Given the description of an element on the screen output the (x, y) to click on. 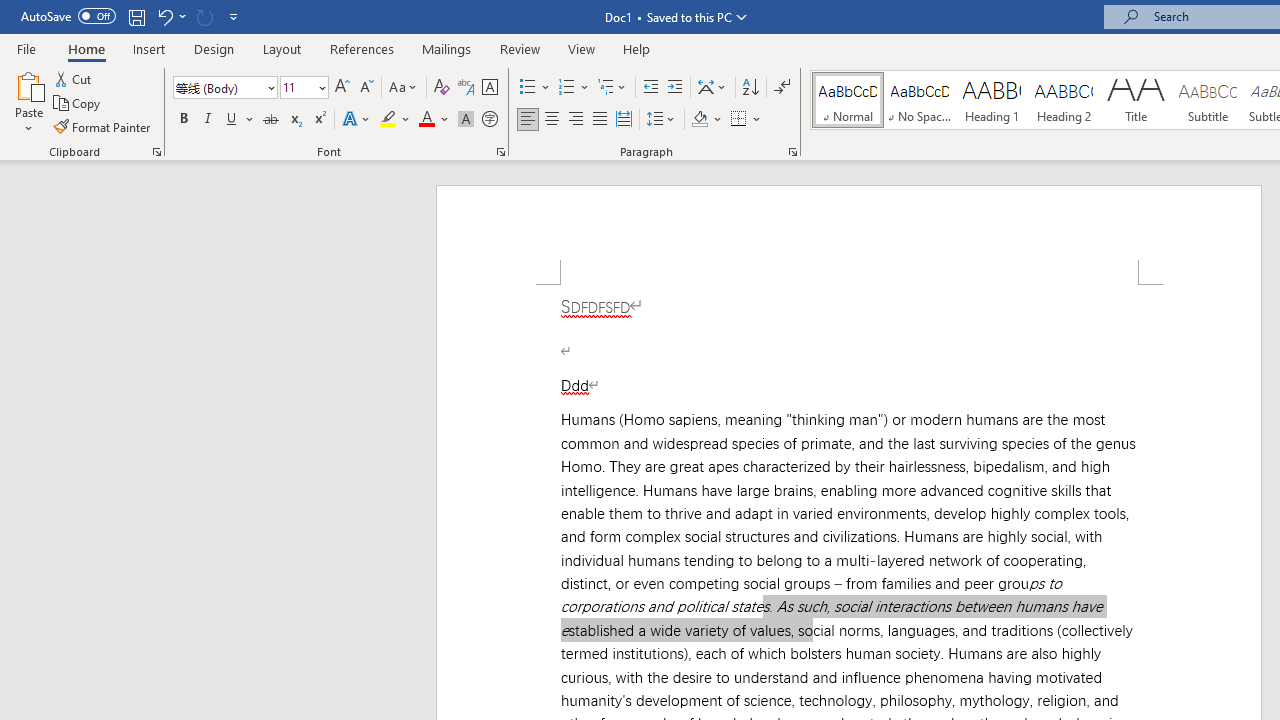
Change Case (404, 87)
Align Left (527, 119)
Superscript (319, 119)
Text Highlight Color (395, 119)
Clear Formatting (442, 87)
Font Color RGB(255, 0, 0) (426, 119)
Undo Apply Quick Style Set (170, 15)
Decrease Indent (650, 87)
Italic (207, 119)
Strikethrough (270, 119)
